Given the description of an element on the screen output the (x, y) to click on. 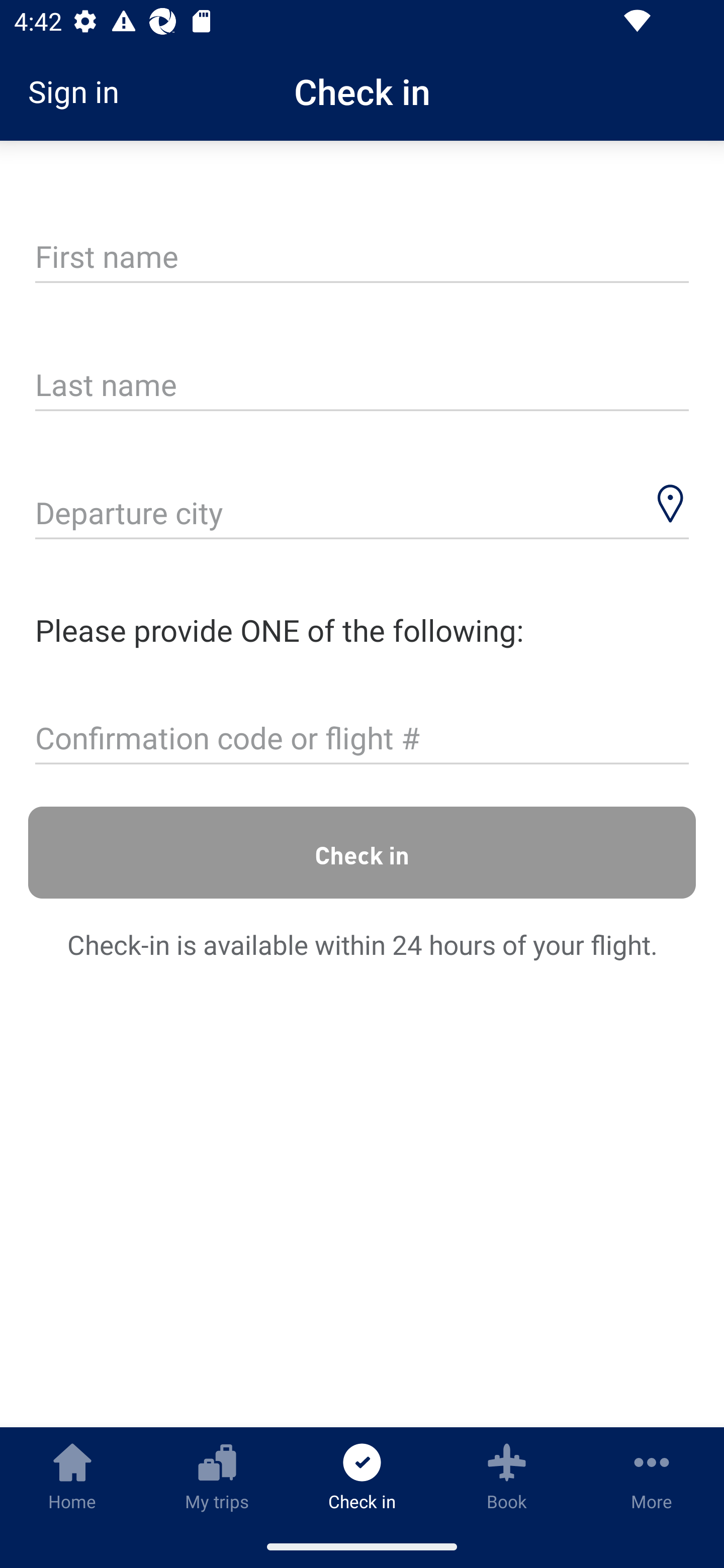
Sign in (80, 91)
First name (361, 257)
Last name (361, 386)
Departure city (361, 514)
Check in (361, 851)
Home (72, 1475)
My trips (216, 1475)
Book (506, 1475)
More (651, 1475)
